Given the description of an element on the screen output the (x, y) to click on. 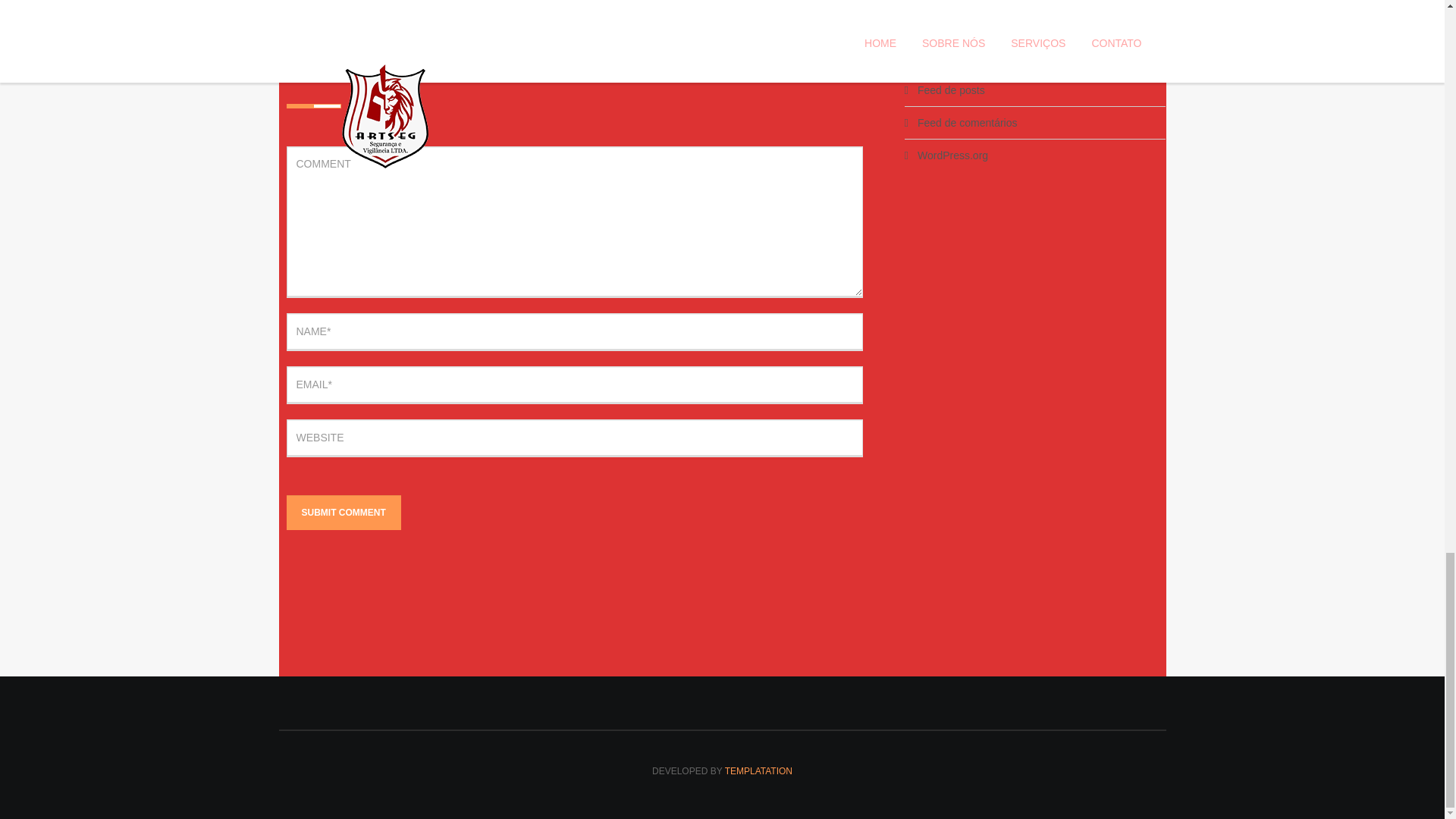
Submit Comment (343, 512)
Submit Comment (343, 512)
